Given the description of an element on the screen output the (x, y) to click on. 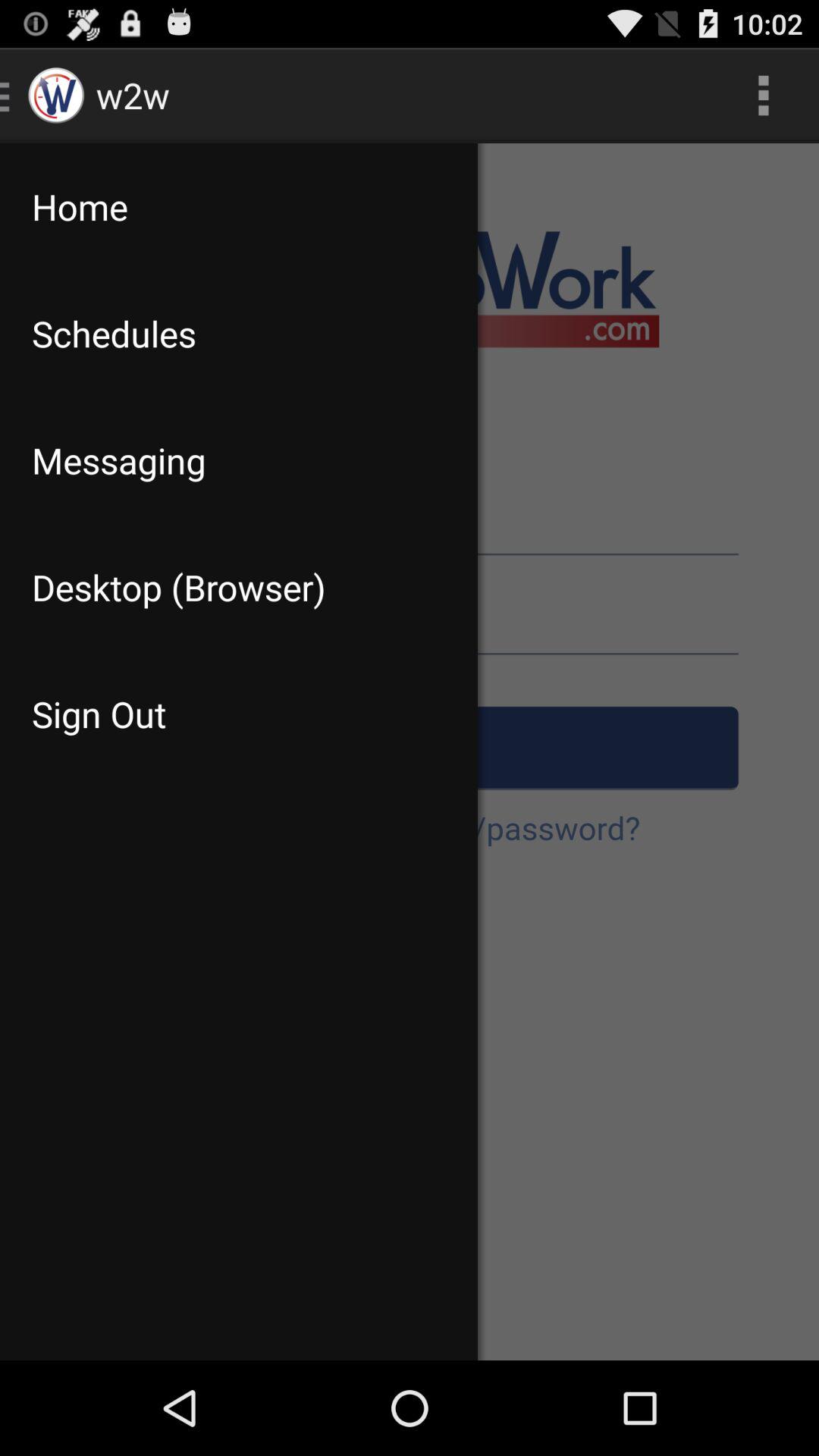
choose icon at the top right corner (763, 95)
